Given the description of an element on the screen output the (x, y) to click on. 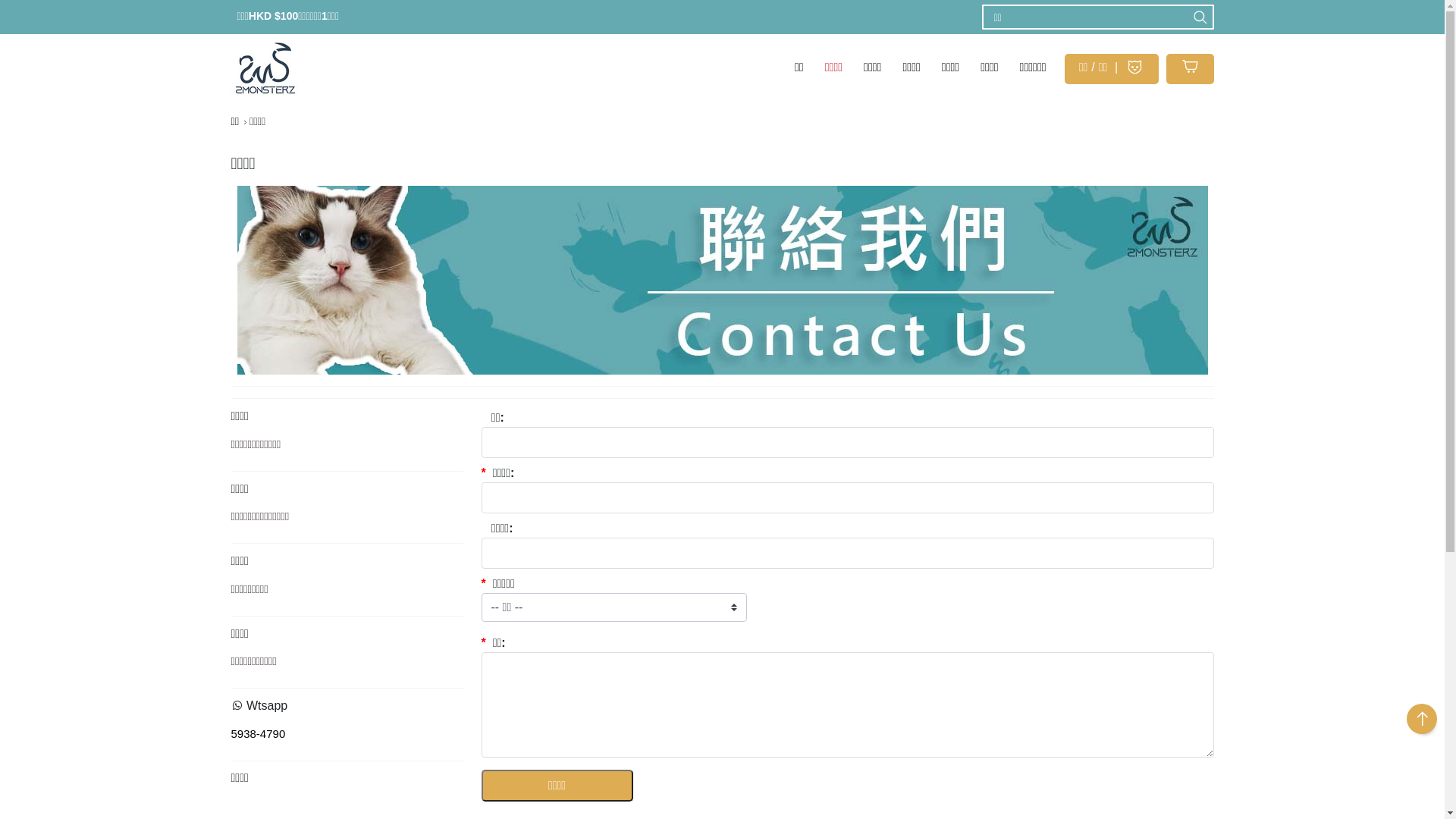
5938-4790 Element type: text (257, 733)
